Given the description of an element on the screen output the (x, y) to click on. 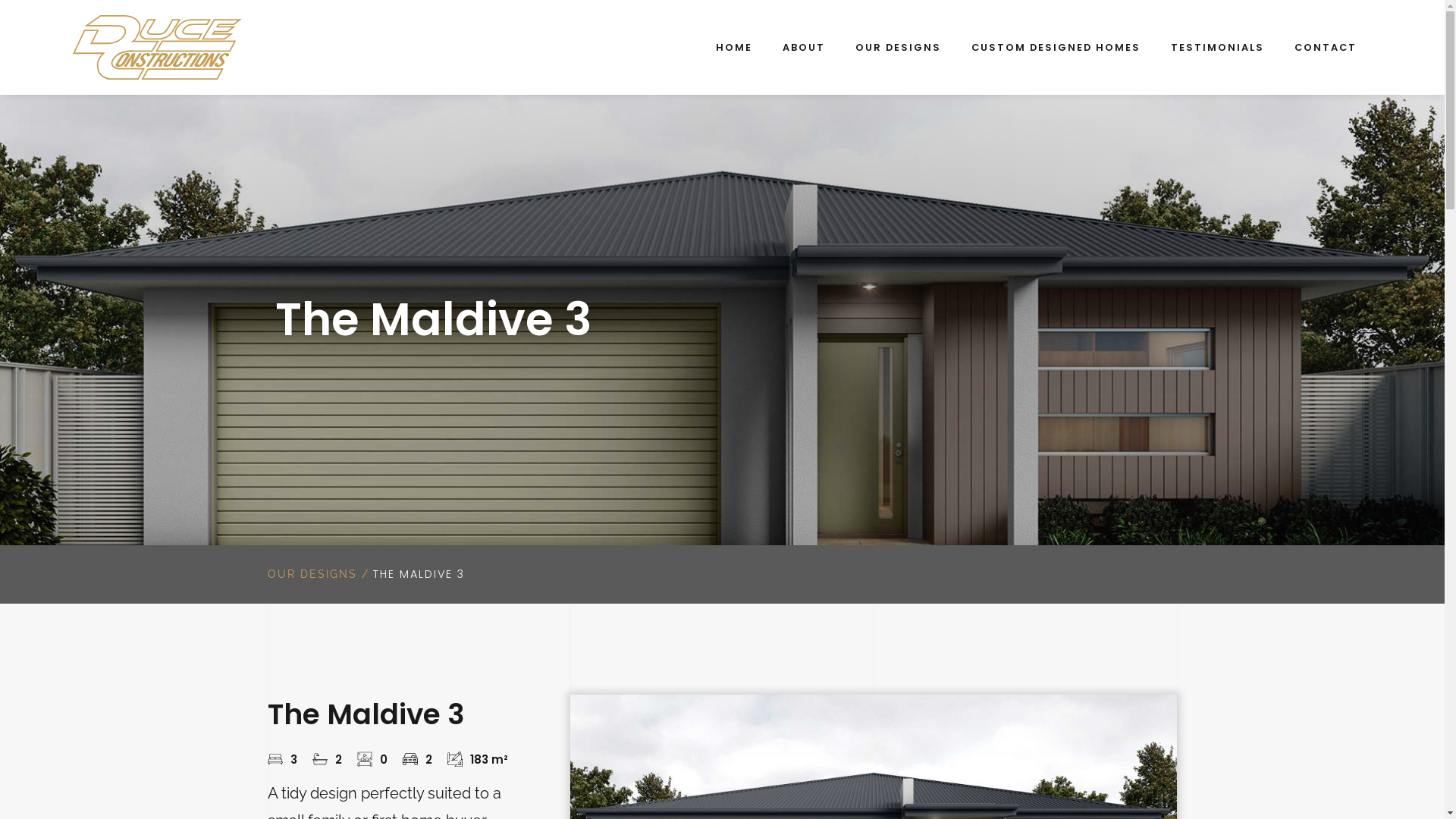
ABOUT Element type: text (803, 46)
HOME Element type: text (733, 46)
TESTIMONIALS Element type: text (1217, 46)
OUR DESIGNS Element type: text (898, 46)
CONTACT Element type: text (1325, 46)
OUR DESIGNS / Element type: text (317, 573)
CUSTOM DESIGNED HOMES Element type: text (1055, 46)
